Given the description of an element on the screen output the (x, y) to click on. 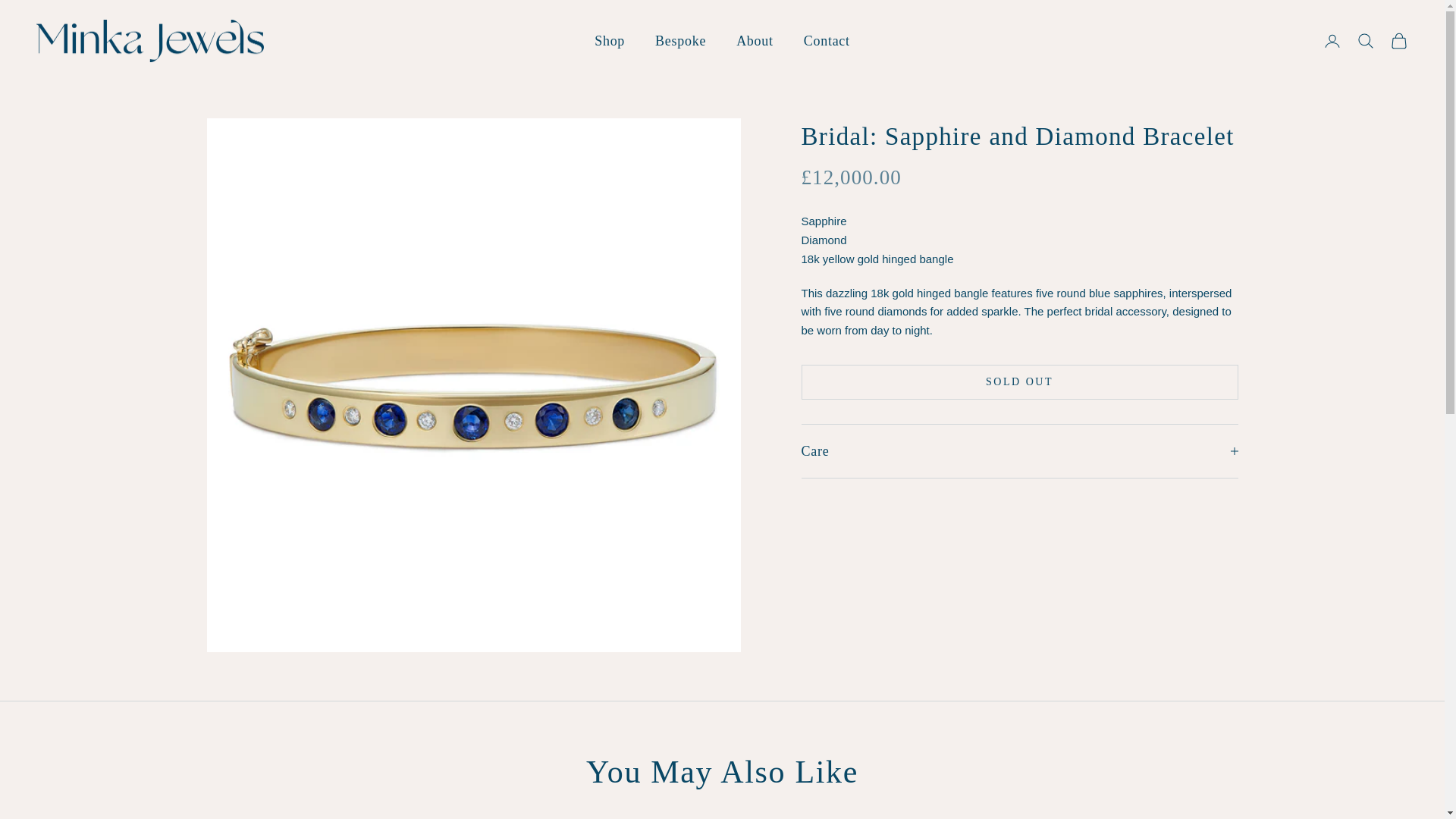
Open search (1365, 40)
Open cart (1398, 40)
Open account page (1331, 40)
Minka Jewels (149, 41)
